Given the description of an element on the screen output the (x, y) to click on. 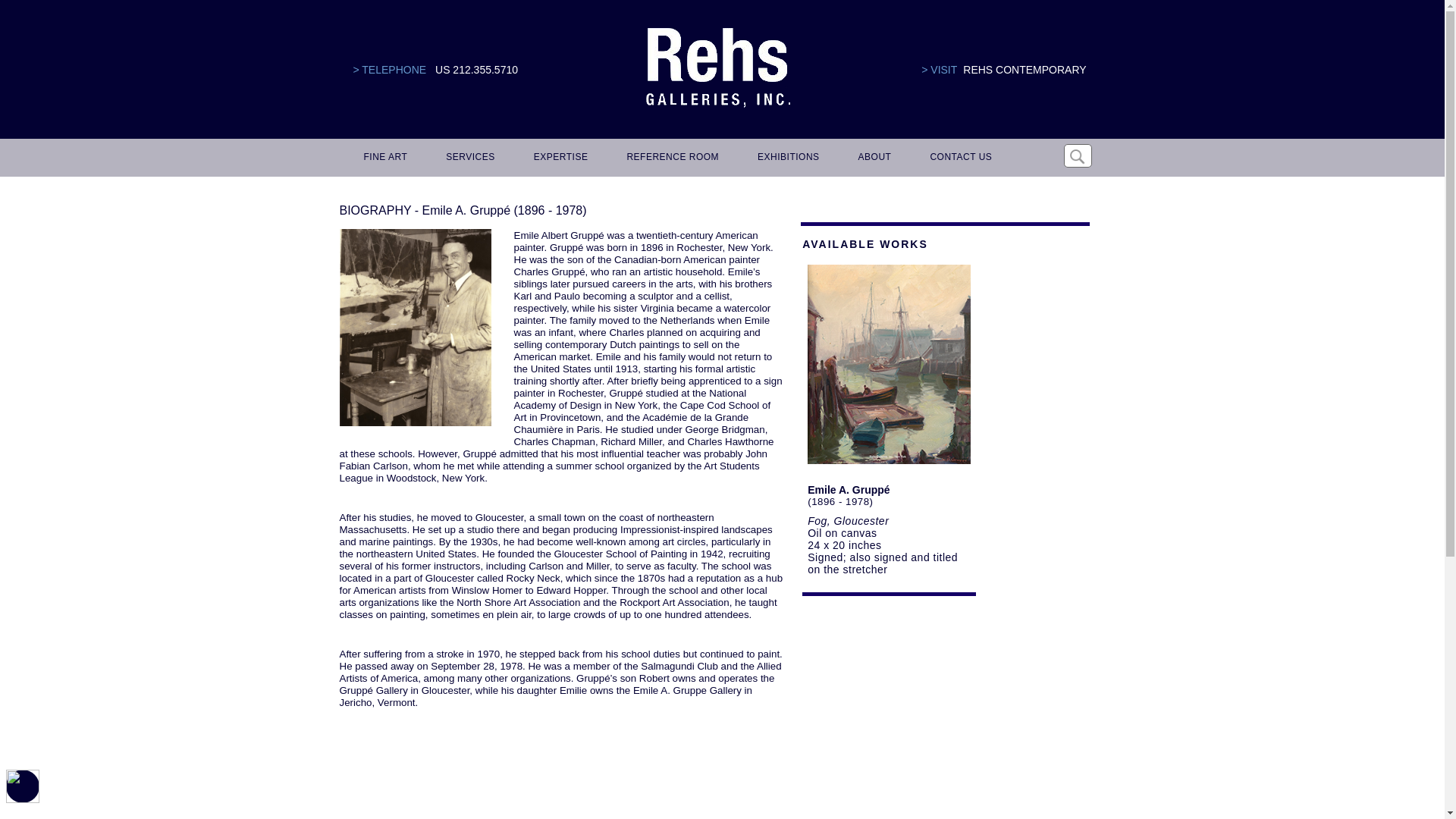
Logo (717, 67)
FINE ART (383, 157)
SERVICES (467, 157)
CONTACT US (957, 157)
Accessibility Menu (22, 786)
REHS CONTEMPORARY (1024, 69)
Fog, Gloucester (848, 521)
EXHIBITIONS (785, 157)
ABOUT (872, 157)
REFERENCE ROOM (670, 157)
